Given the description of an element on the screen output the (x, y) to click on. 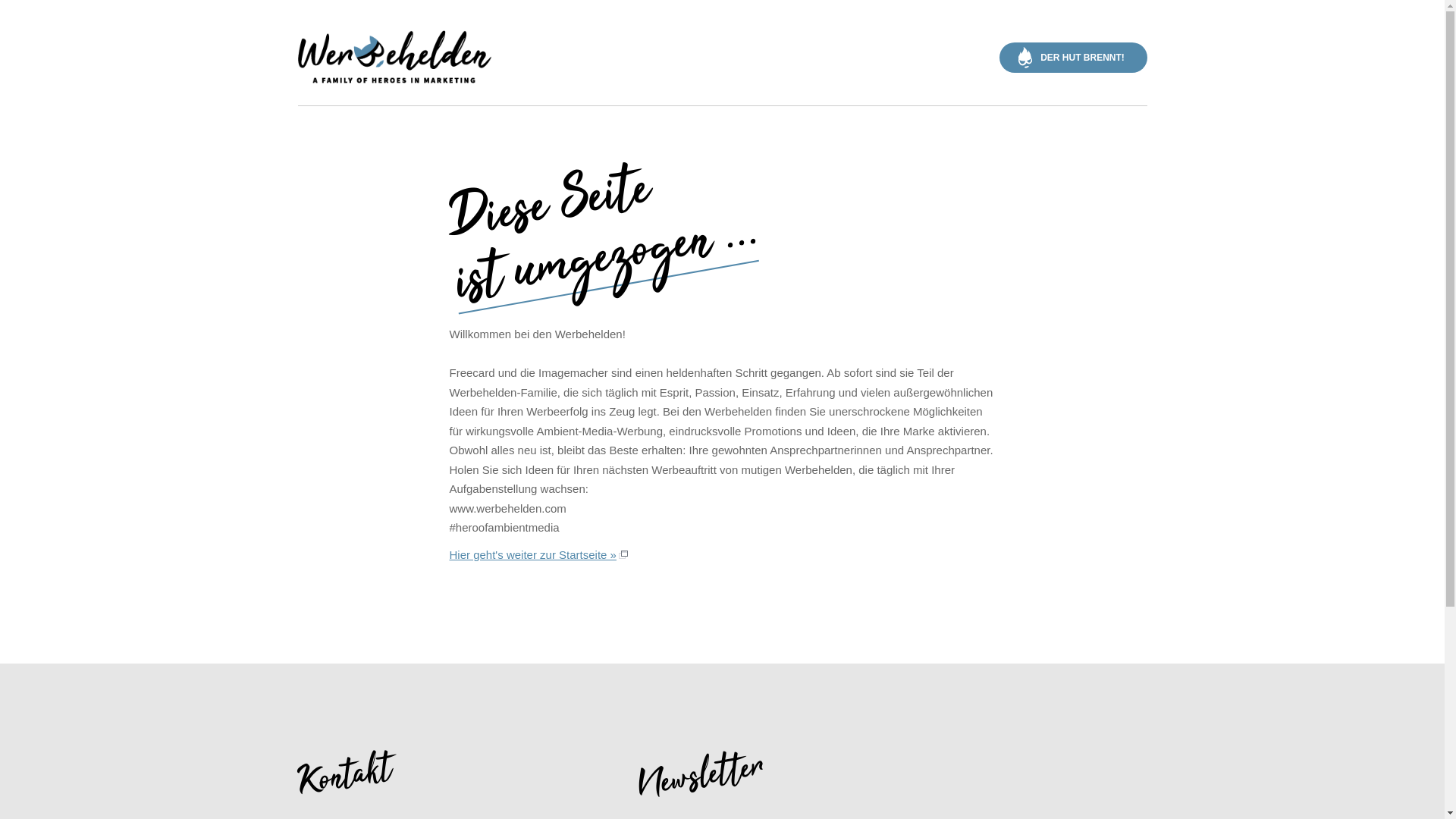
DER HUT BRENNT! Element type: text (1073, 57)
Zur Startseite Element type: hover (393, 65)
